Given the description of an element on the screen output the (x, y) to click on. 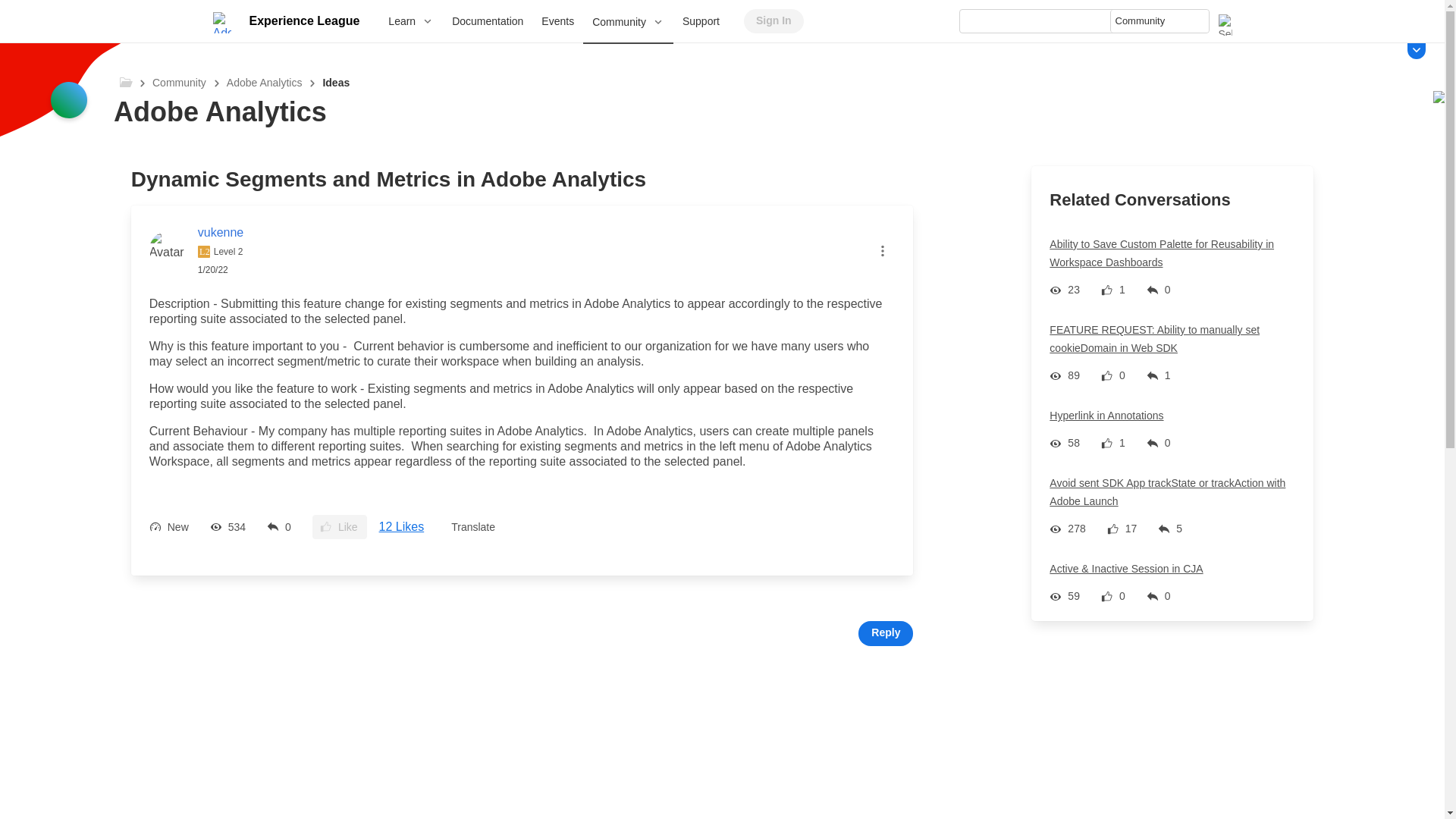
Documentation (487, 21)
Events (557, 21)
Experience League (304, 21)
Learn (410, 21)
Learn (410, 21)
Community (627, 22)
Experience League (304, 21)
